Given the description of an element on the screen output the (x, y) to click on. 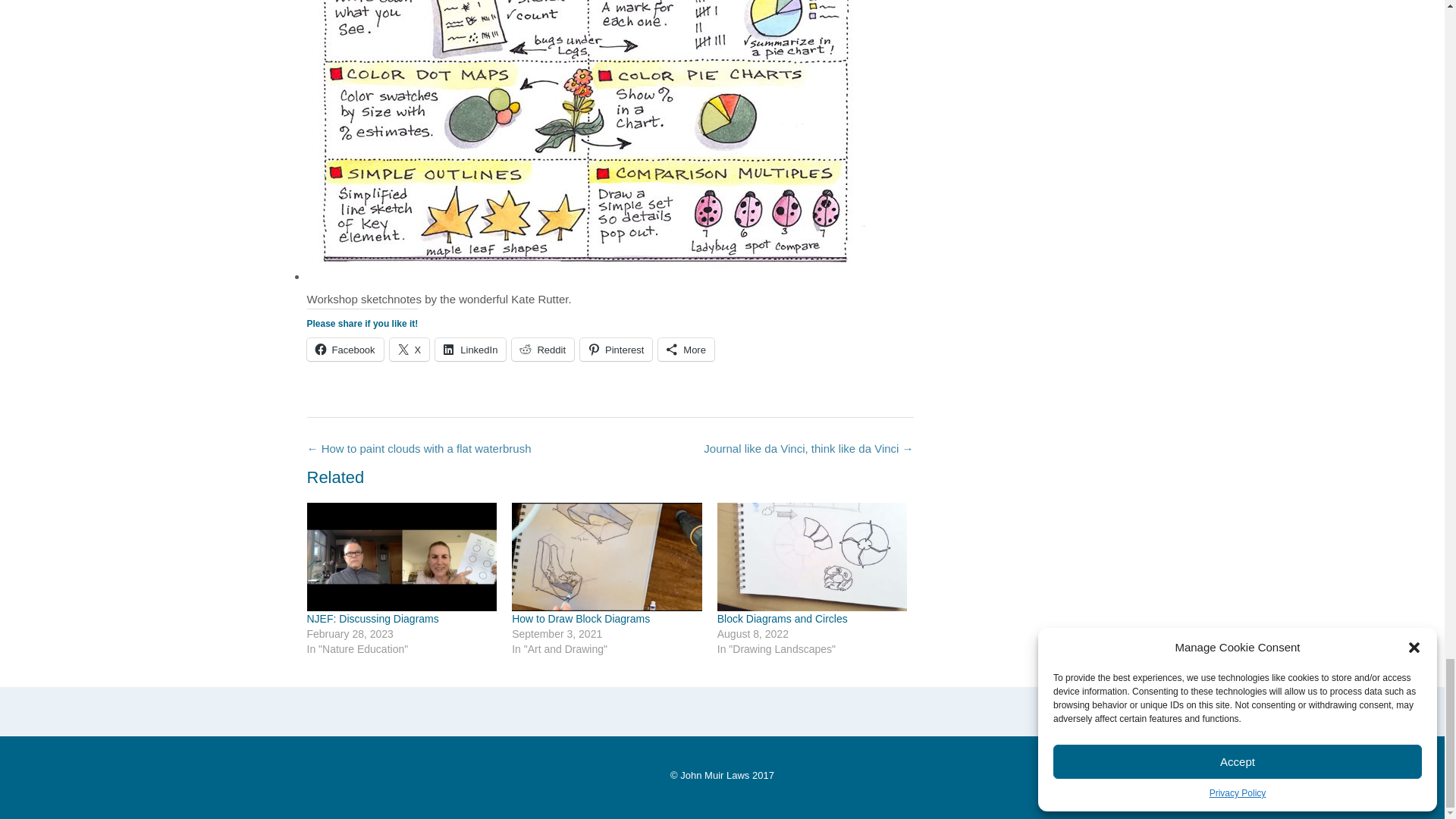
Click to share on Reddit (542, 349)
Click to share on X (409, 349)
Click to share on LinkedIn (470, 349)
Click to share on Facebook (343, 349)
